Given the description of an element on the screen output the (x, y) to click on. 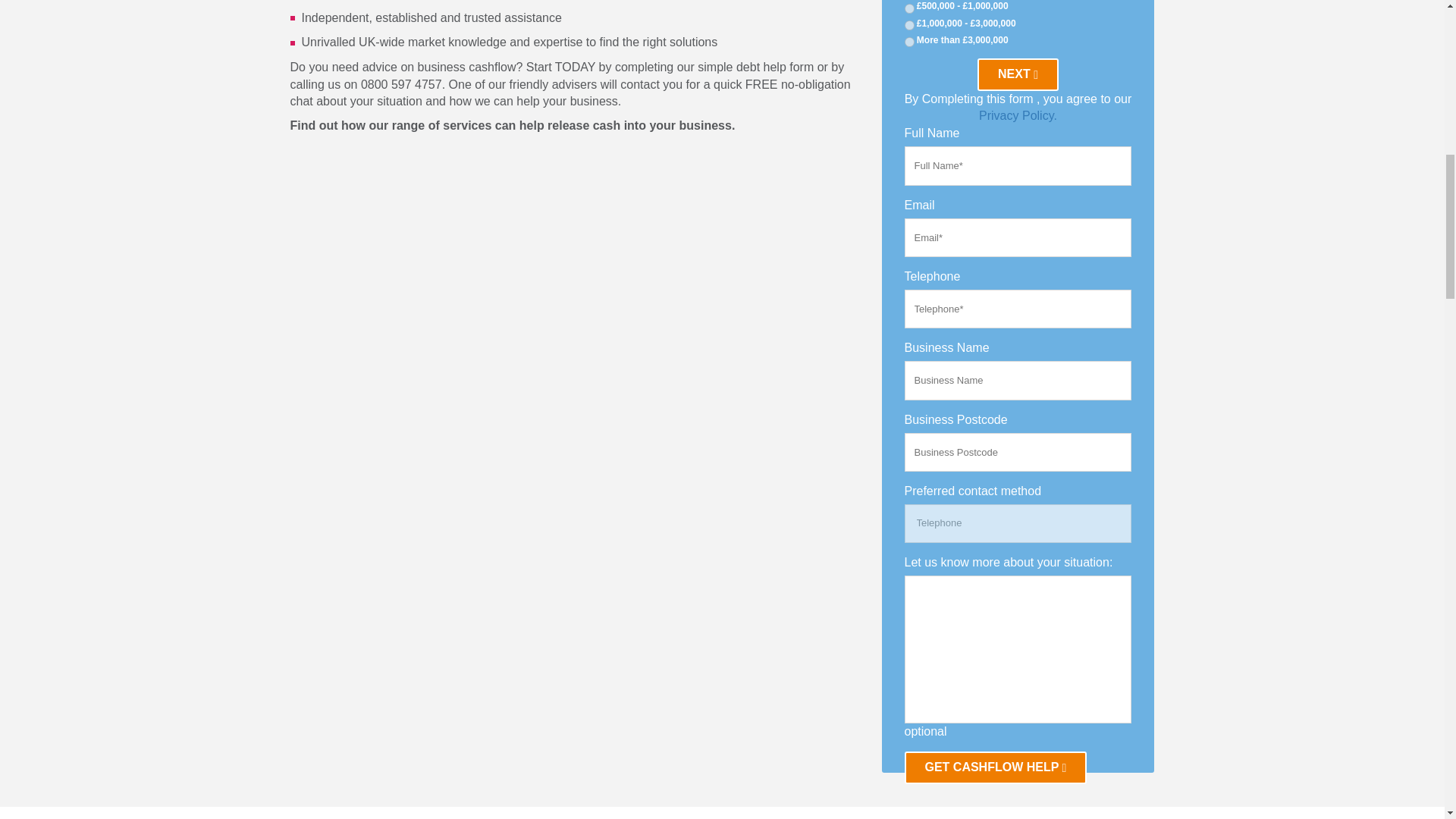
7 (909, 41)
5 (909, 8)
6 (909, 25)
